Given the description of an element on the screen output the (x, y) to click on. 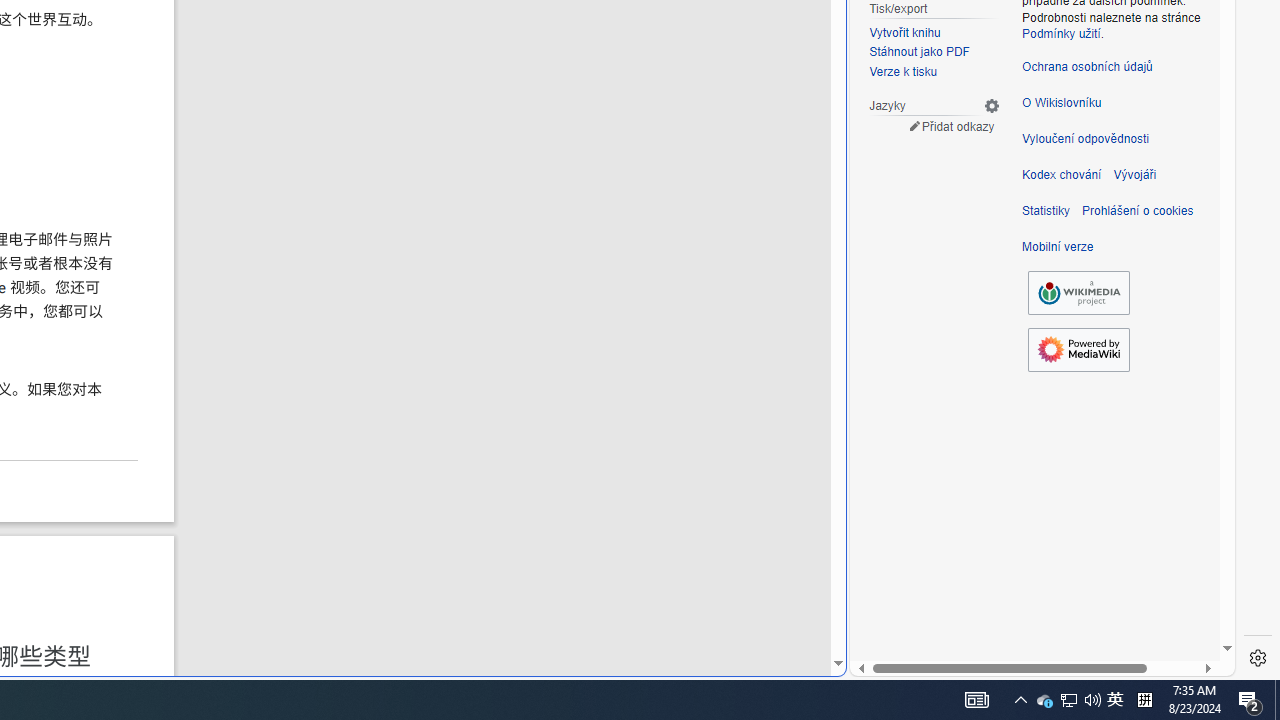
Global web icon (888, 663)
